Given the description of an element on the screen output the (x, y) to click on. 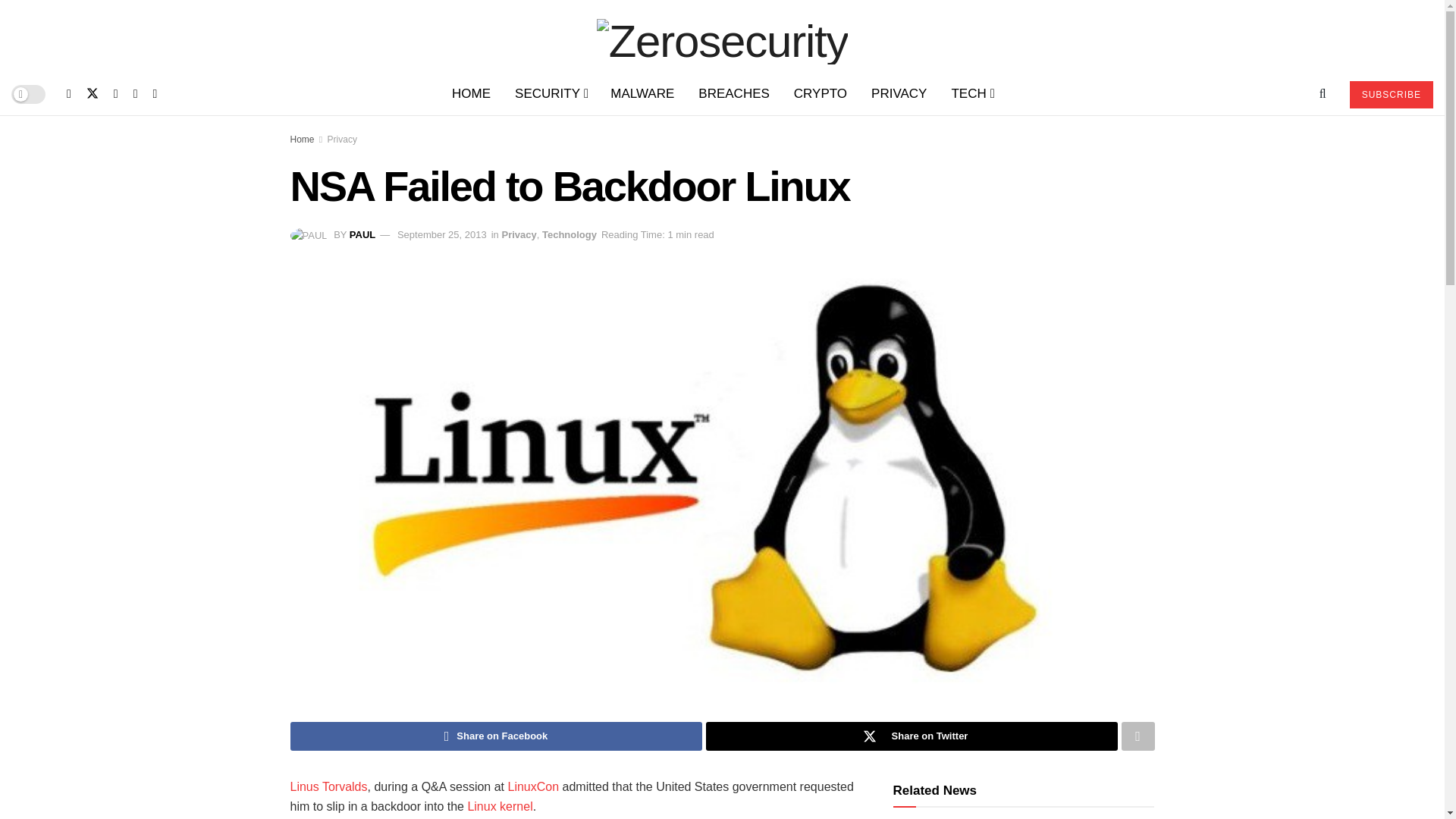
TECH (971, 93)
HOME (470, 93)
Linux kernel (499, 806)
BREACHES (733, 93)
MALWARE (641, 93)
SECURITY (550, 93)
Linus Torvalds (327, 786)
CRYPTO (820, 93)
LinuxCon (532, 786)
PRIVACY (899, 93)
SUBSCRIBE (1390, 94)
